Given the description of an element on the screen output the (x, y) to click on. 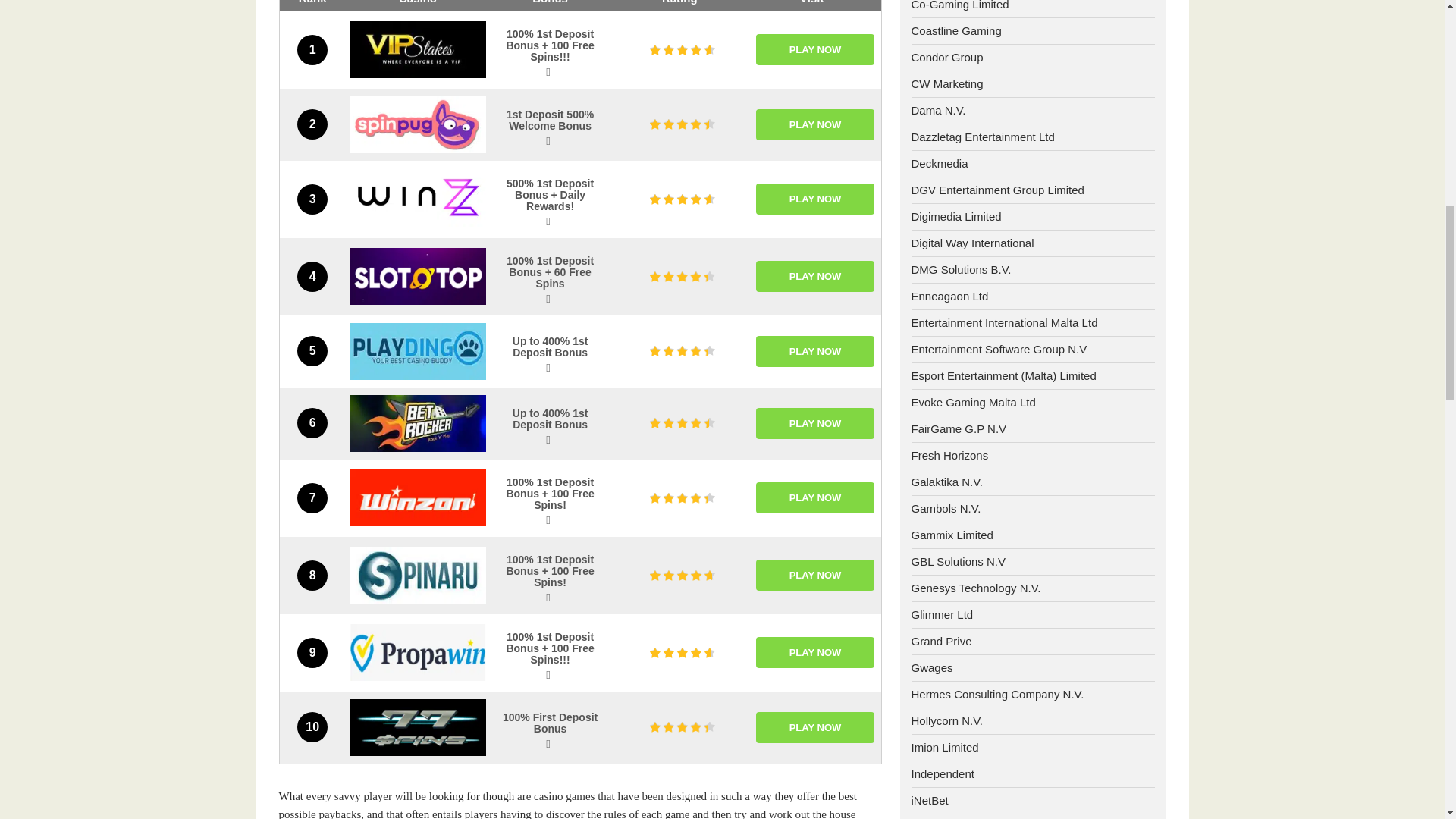
Playdingo Casino (417, 351)
SpinPug Casino (417, 124)
VIPStakes Casino (417, 49)
PLAY NOW (815, 124)
Slototop Casino (417, 276)
PLAY NOW (815, 49)
PLAY NOW (815, 198)
Winzz Casino (417, 198)
PLAY NOW (815, 276)
